Given the description of an element on the screen output the (x, y) to click on. 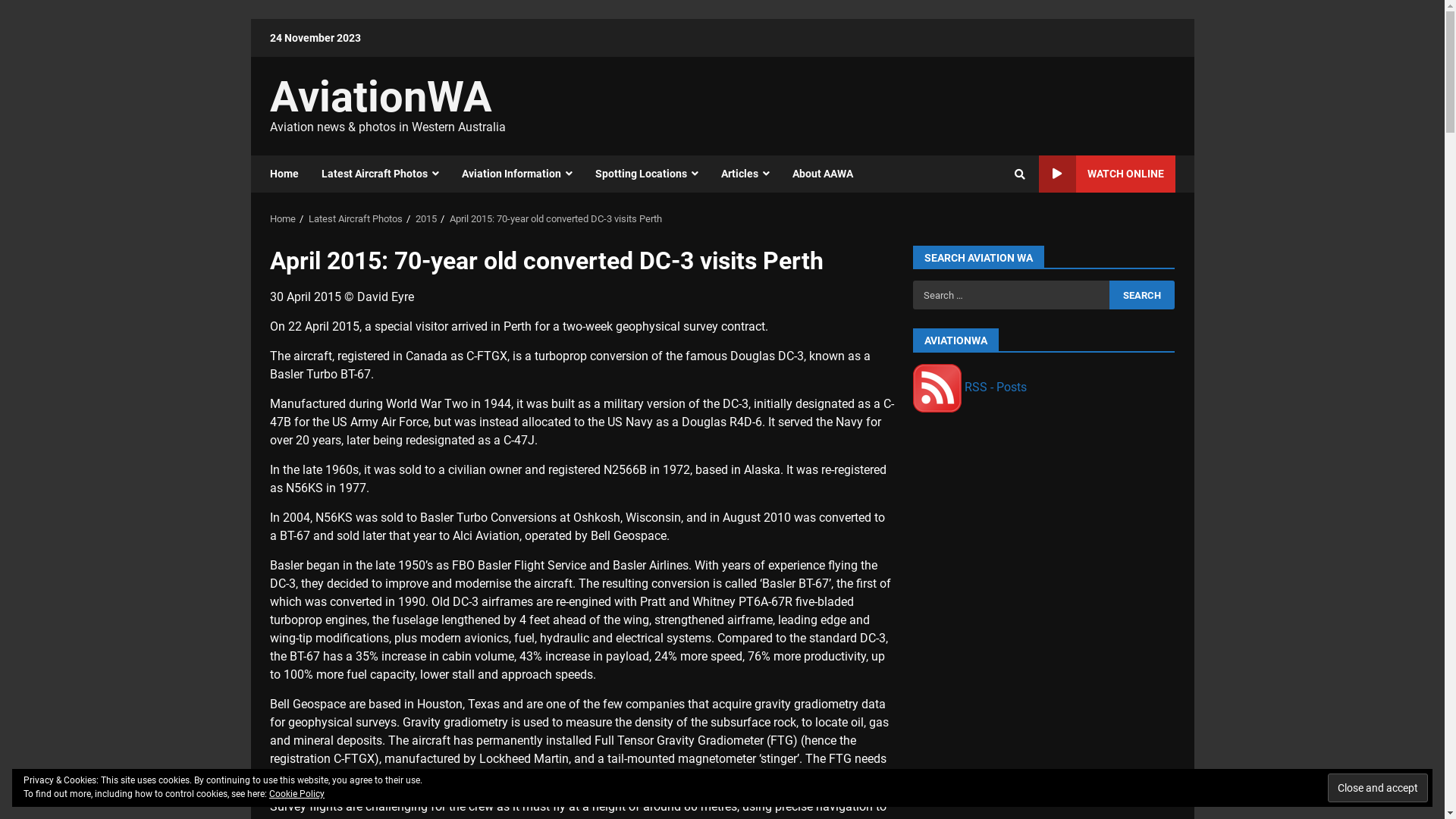
Latest Aircraft Photos Element type: text (379, 173)
WATCH ONLINE Element type: text (1106, 173)
AviationWA Element type: text (380, 97)
Skip to content Element type: text (250, 18)
Search Element type: text (1141, 294)
Latest Aircraft Photos Element type: text (354, 218)
Home Element type: text (289, 173)
Search Element type: text (991, 225)
Search Element type: hover (1019, 173)
Articles Element type: text (745, 173)
Cookie Policy Element type: text (296, 793)
April 2015: 70-year old converted DC-3 visits Perth Element type: text (554, 218)
About AAWA Element type: text (817, 173)
2015 Element type: text (425, 218)
 RSS - Posts Element type: text (969, 386)
Home Element type: text (282, 218)
Close and accept Element type: text (1377, 787)
Aviation Information Element type: text (516, 173)
Spotting Locations Element type: text (646, 173)
